Given the description of an element on the screen output the (x, y) to click on. 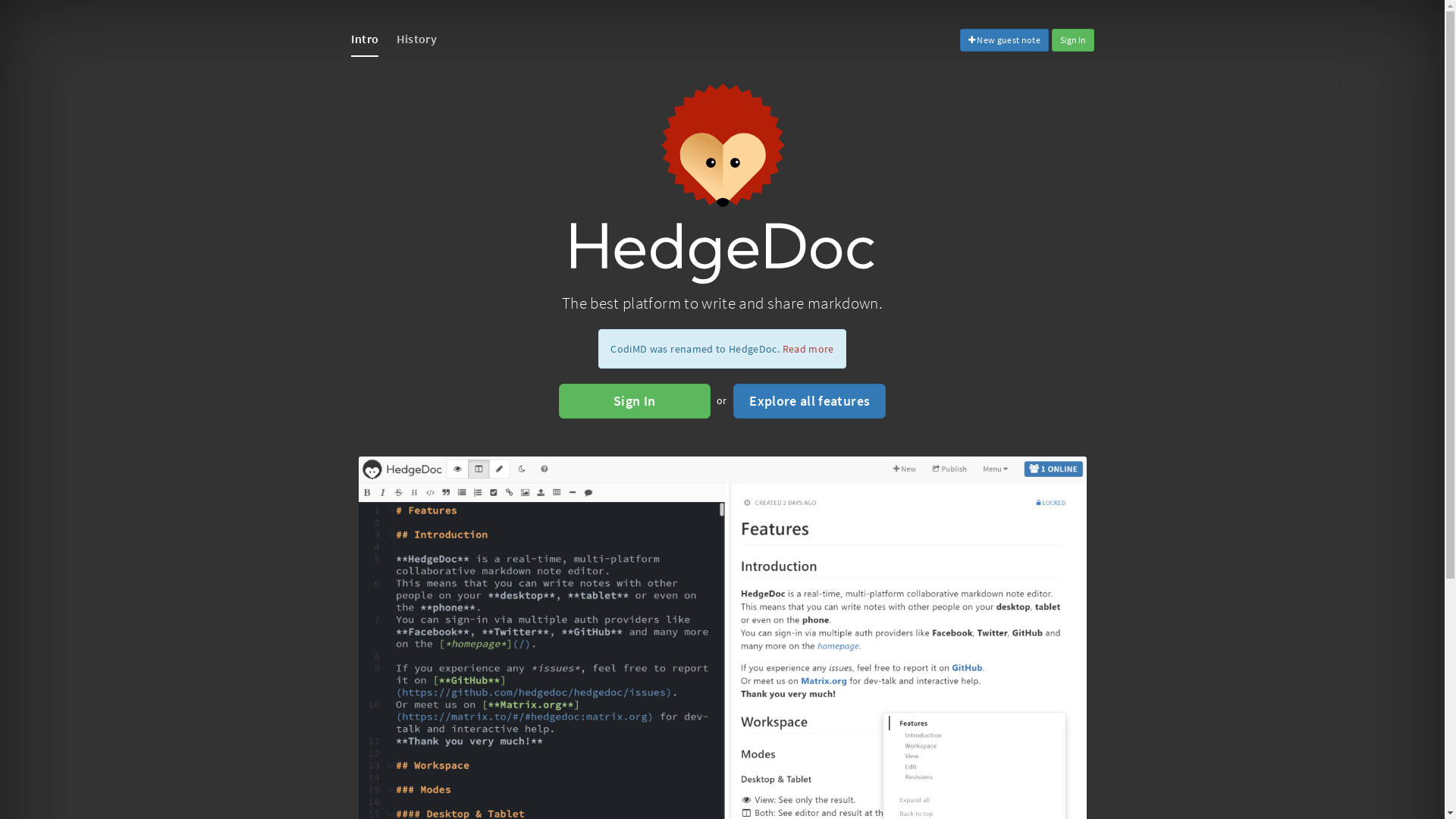
New guest note Element type: text (1004, 39)
Explore all features Element type: text (809, 400)
Read more Element type: text (808, 348)
History Element type: text (416, 39)
Intro Element type: text (364, 39)
Sign In Element type: text (1072, 39)
Sign In Element type: text (634, 400)
